Given the description of an element on the screen output the (x, y) to click on. 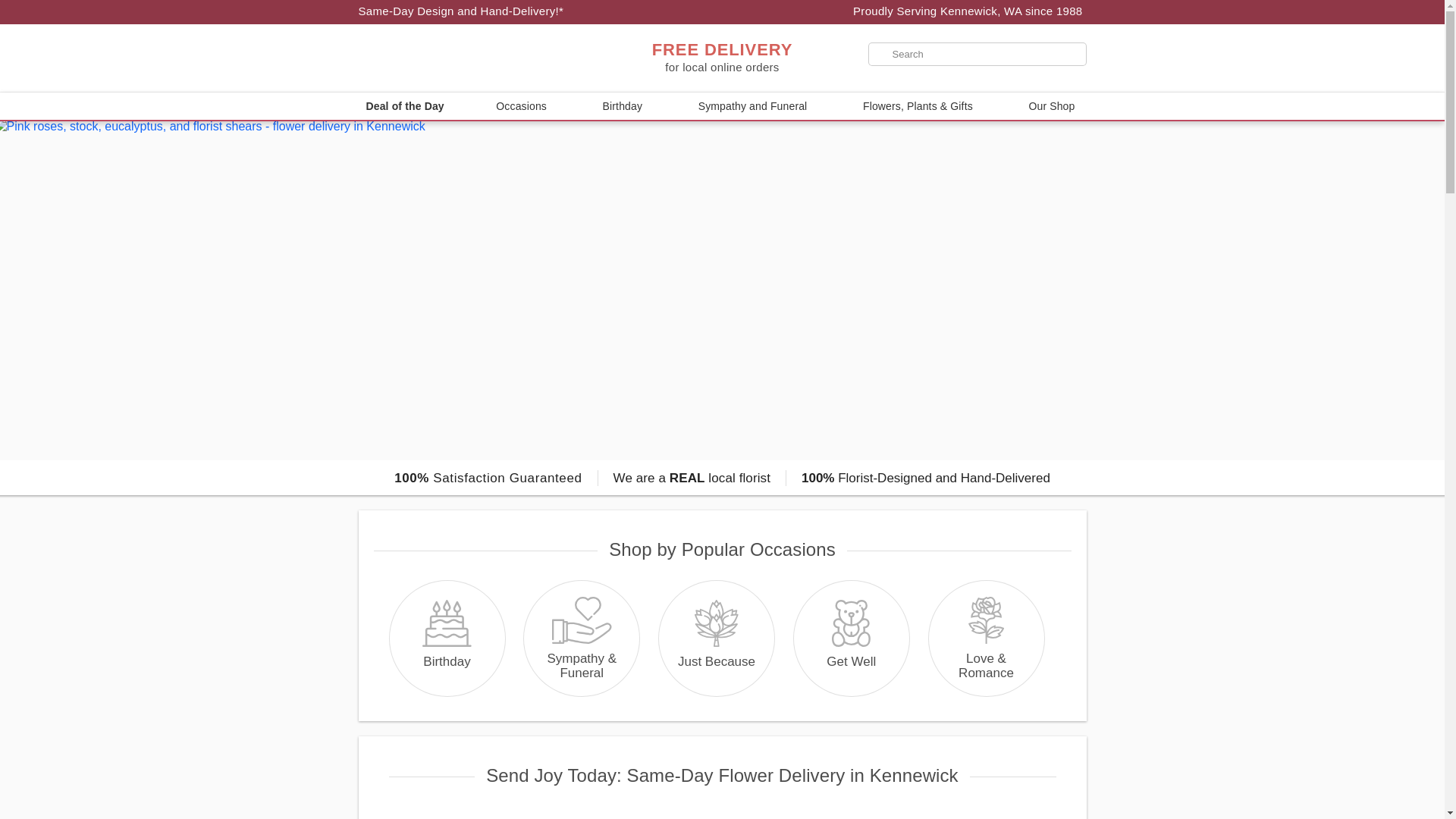
Same-Day Design and Hand-Delivery! (460, 10)
Submit Search Form (52, 7)
